Given the description of an element on the screen output the (x, y) to click on. 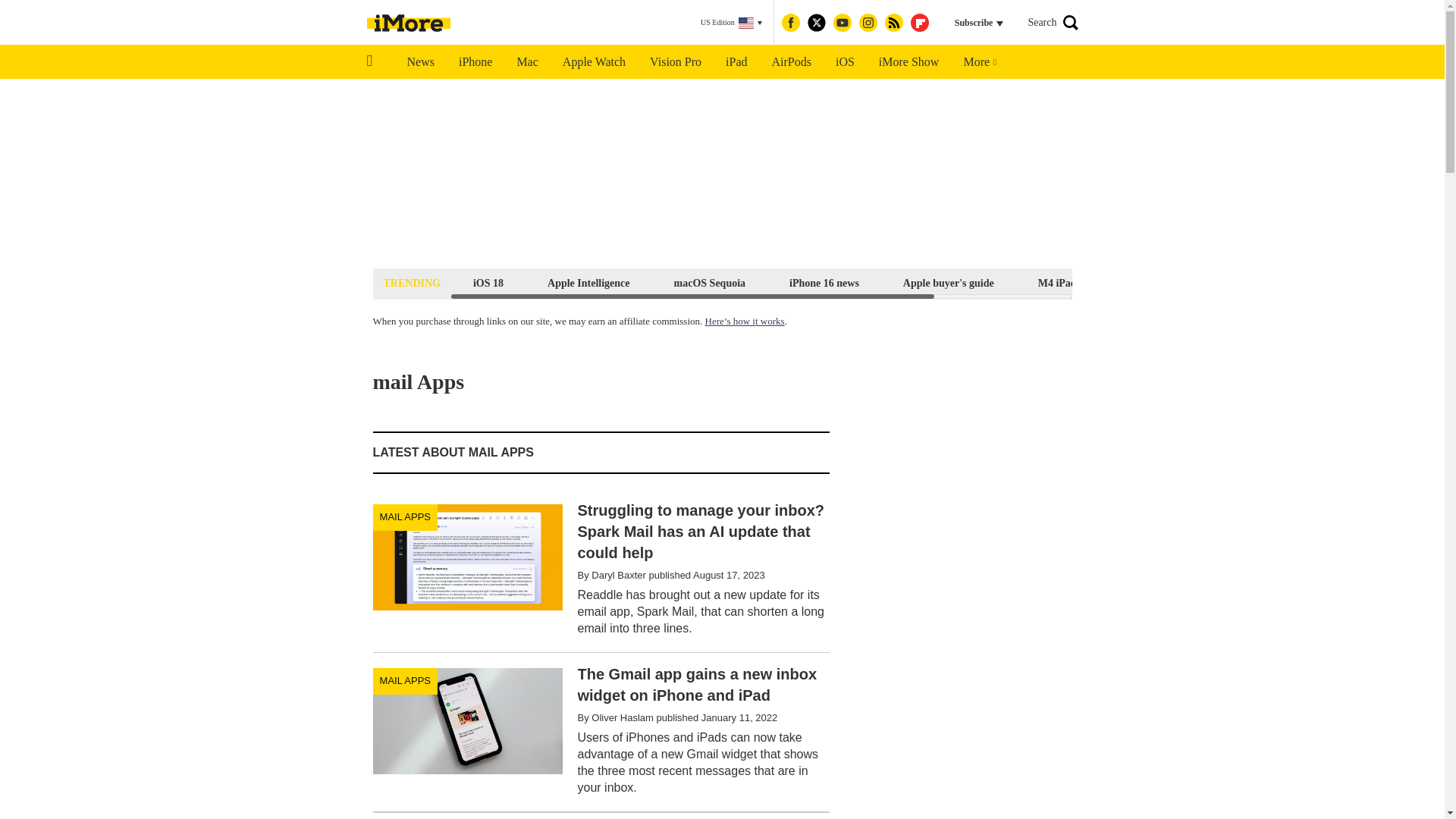
AirPods (792, 61)
iOS (845, 61)
Apple Watch (593, 61)
Vision Pro (675, 61)
iPad (735, 61)
iMore Show (909, 61)
News (419, 61)
iPhone (474, 61)
Mac (526, 61)
US Edition (731, 22)
